Given the description of an element on the screen output the (x, y) to click on. 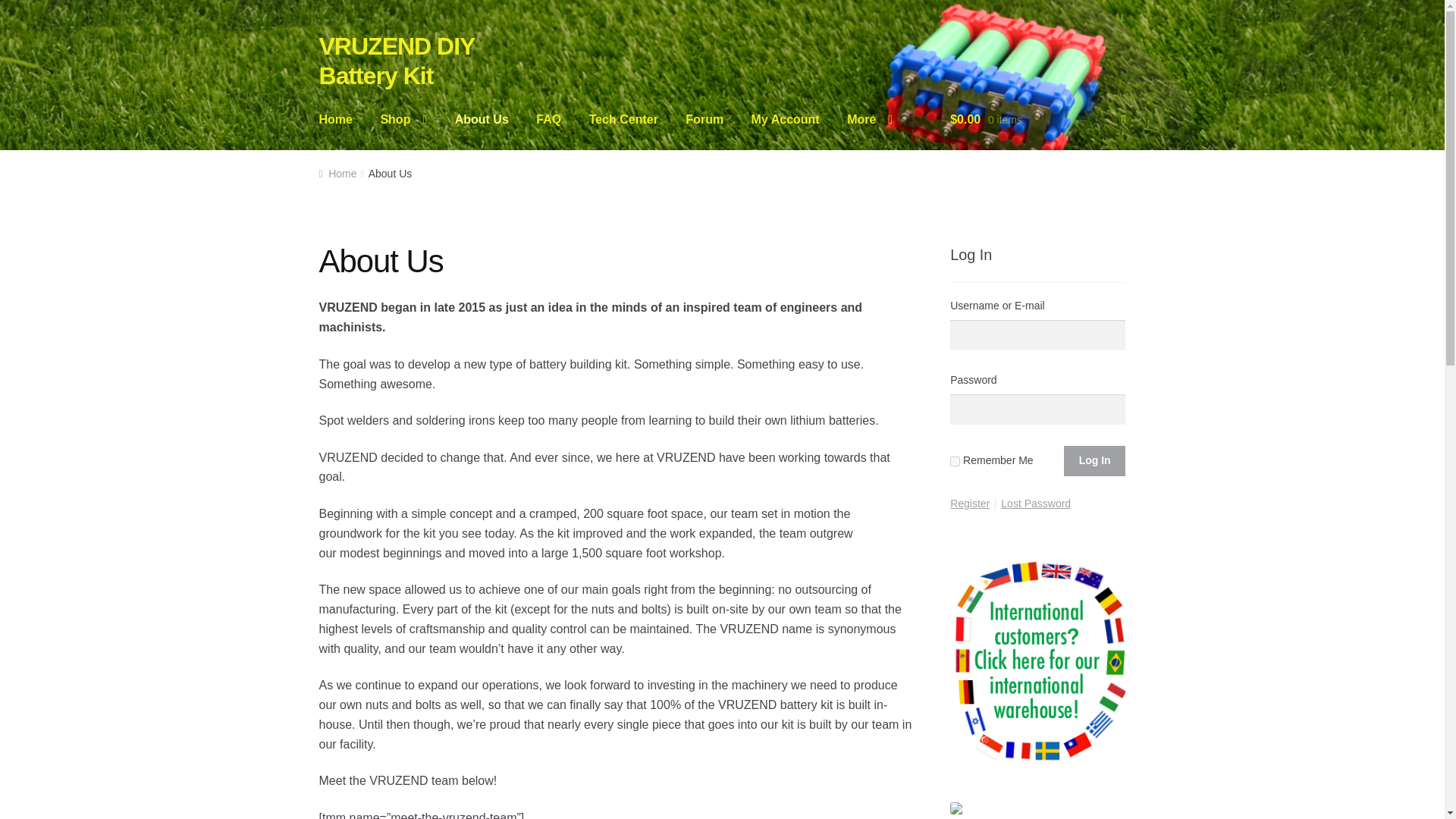
View your shopping cart (1037, 119)
Home (336, 119)
forever (954, 461)
Tech Center (622, 119)
Skip to navigation (366, 41)
Forum (703, 119)
Shop (403, 119)
Log In (1094, 460)
More (869, 119)
My Account (785, 119)
VRUZEND DIY Battery Kit (396, 60)
Skip to content (358, 41)
About Us (481, 119)
